Given the description of an element on the screen output the (x, y) to click on. 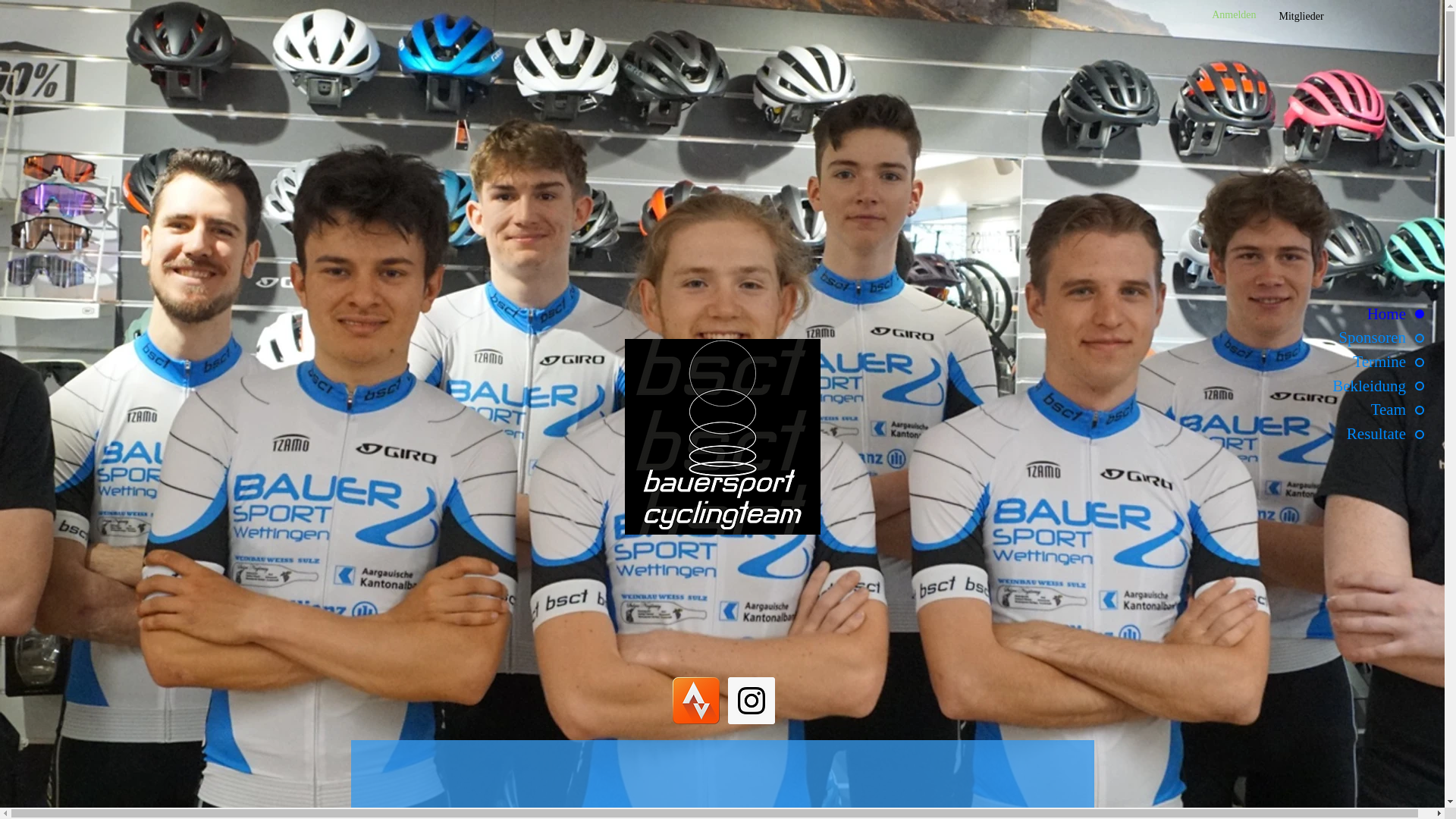
Termine Element type: text (1345, 362)
LOgo.png Element type: hover (722, 436)
Team Element type: text (1345, 409)
Sponsoren Element type: text (1345, 337)
Bekleidung Element type: text (1345, 386)
Resultate Element type: text (1345, 434)
Anmelden Element type: text (1233, 14)
Home Element type: text (1345, 314)
